Given the description of an element on the screen output the (x, y) to click on. 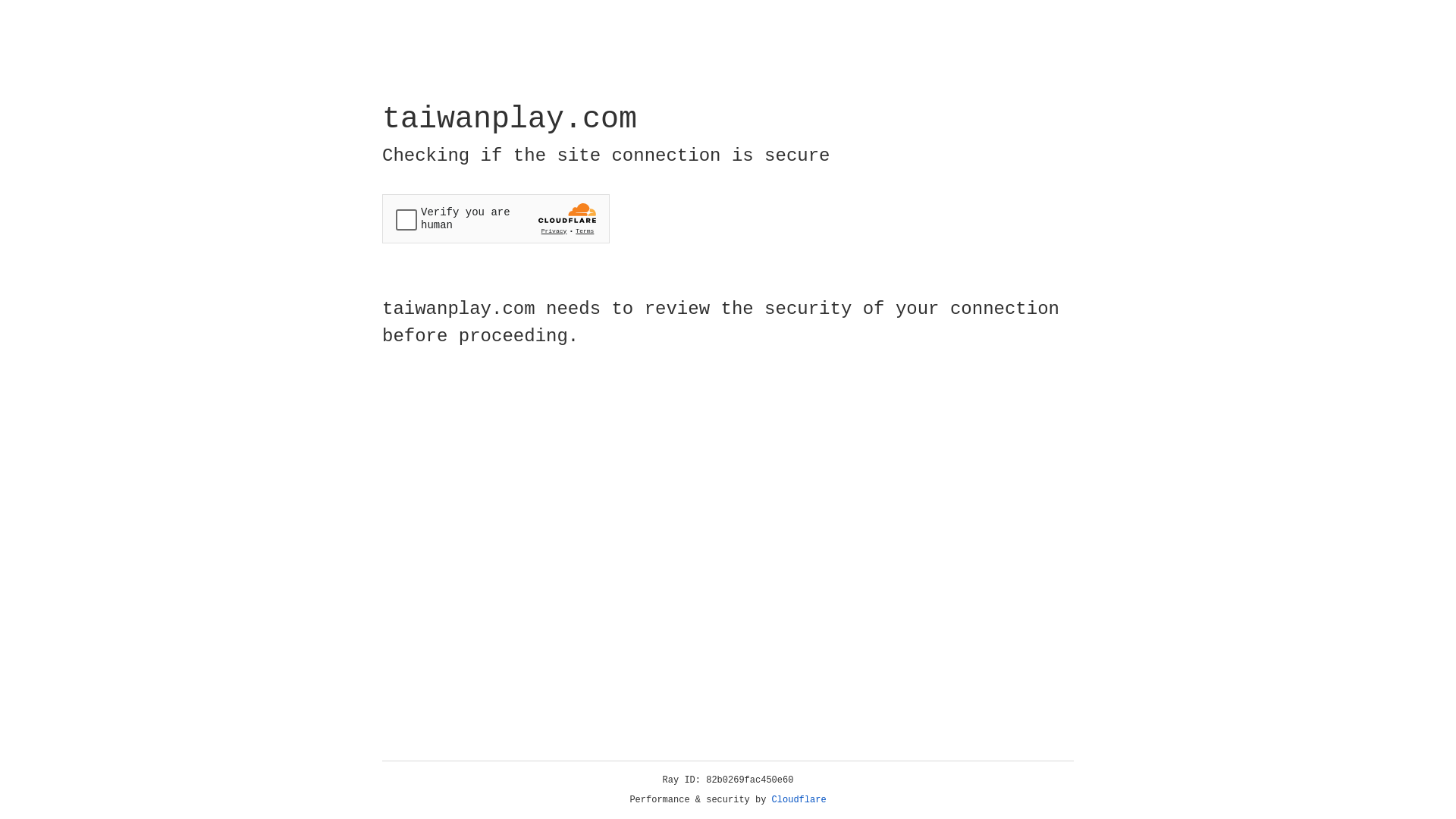
Cloudflare Element type: text (798, 799)
Widget containing a Cloudflare security challenge Element type: hover (495, 218)
